Given the description of an element on the screen output the (x, y) to click on. 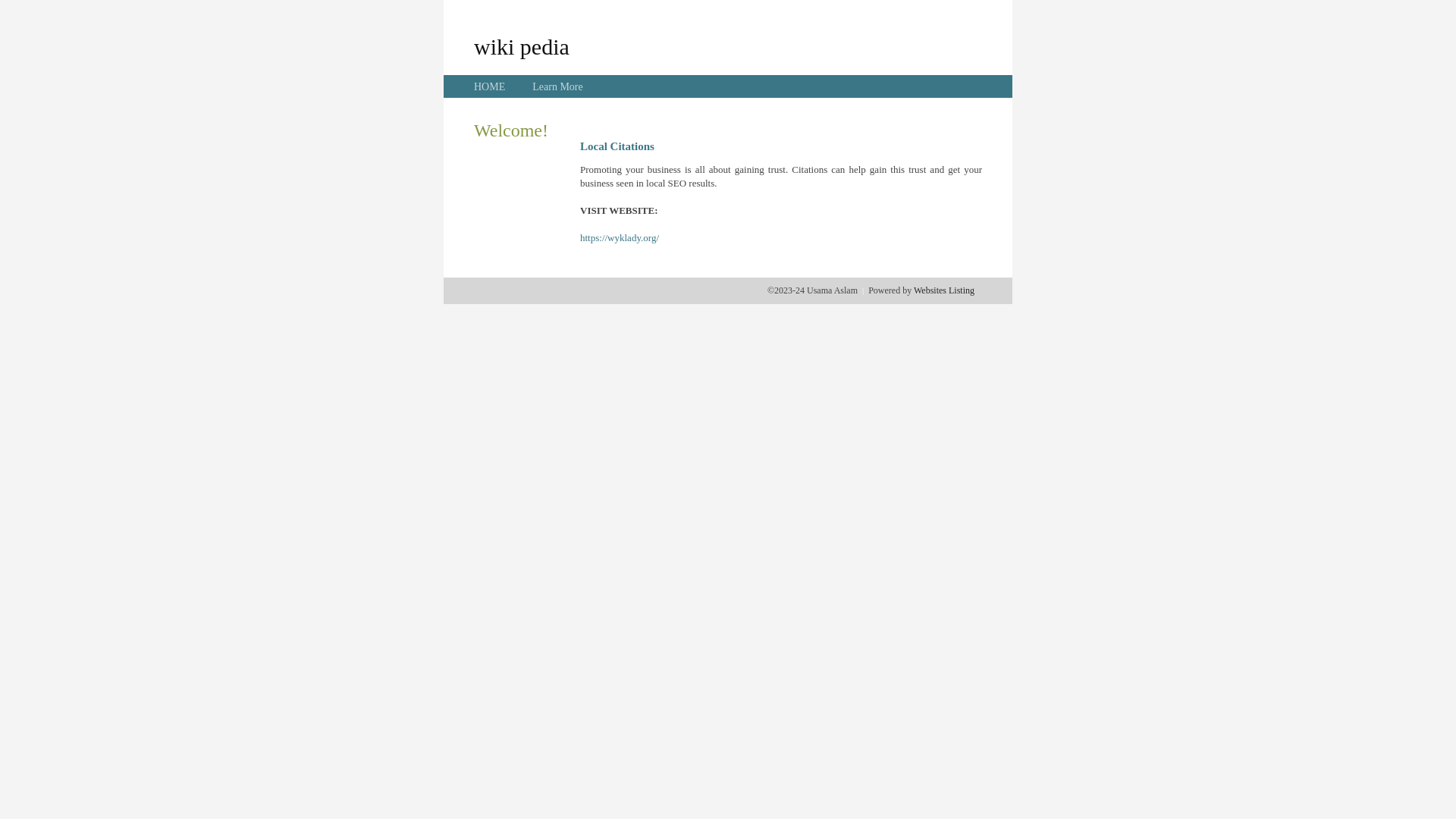
wiki pedia Element type: text (521, 46)
Learn More Element type: text (557, 86)
https://wyklady.org/ Element type: text (619, 237)
HOME Element type: text (489, 86)
Websites Listing Element type: text (943, 290)
